Given the description of an element on the screen output the (x, y) to click on. 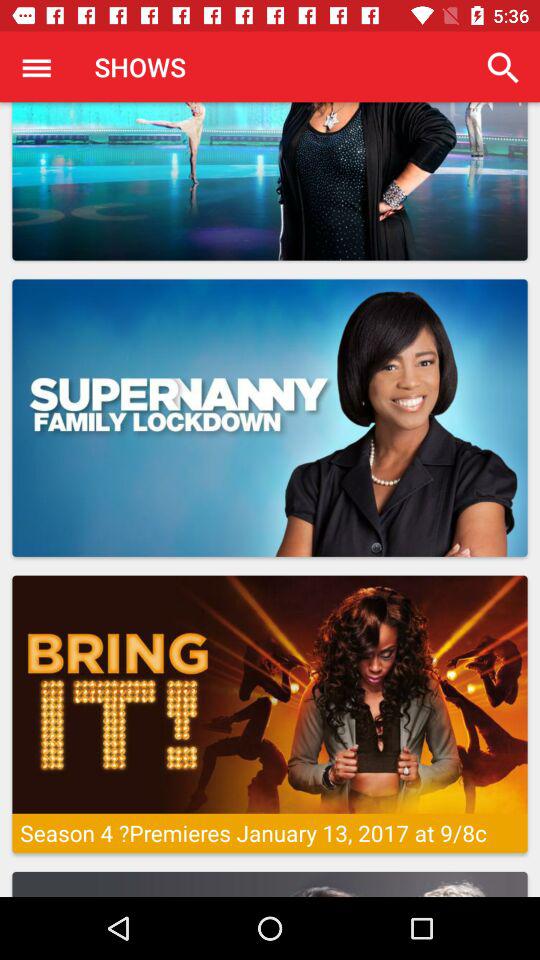
turn off the icon next to the shows (36, 67)
